Given the description of an element on the screen output the (x, y) to click on. 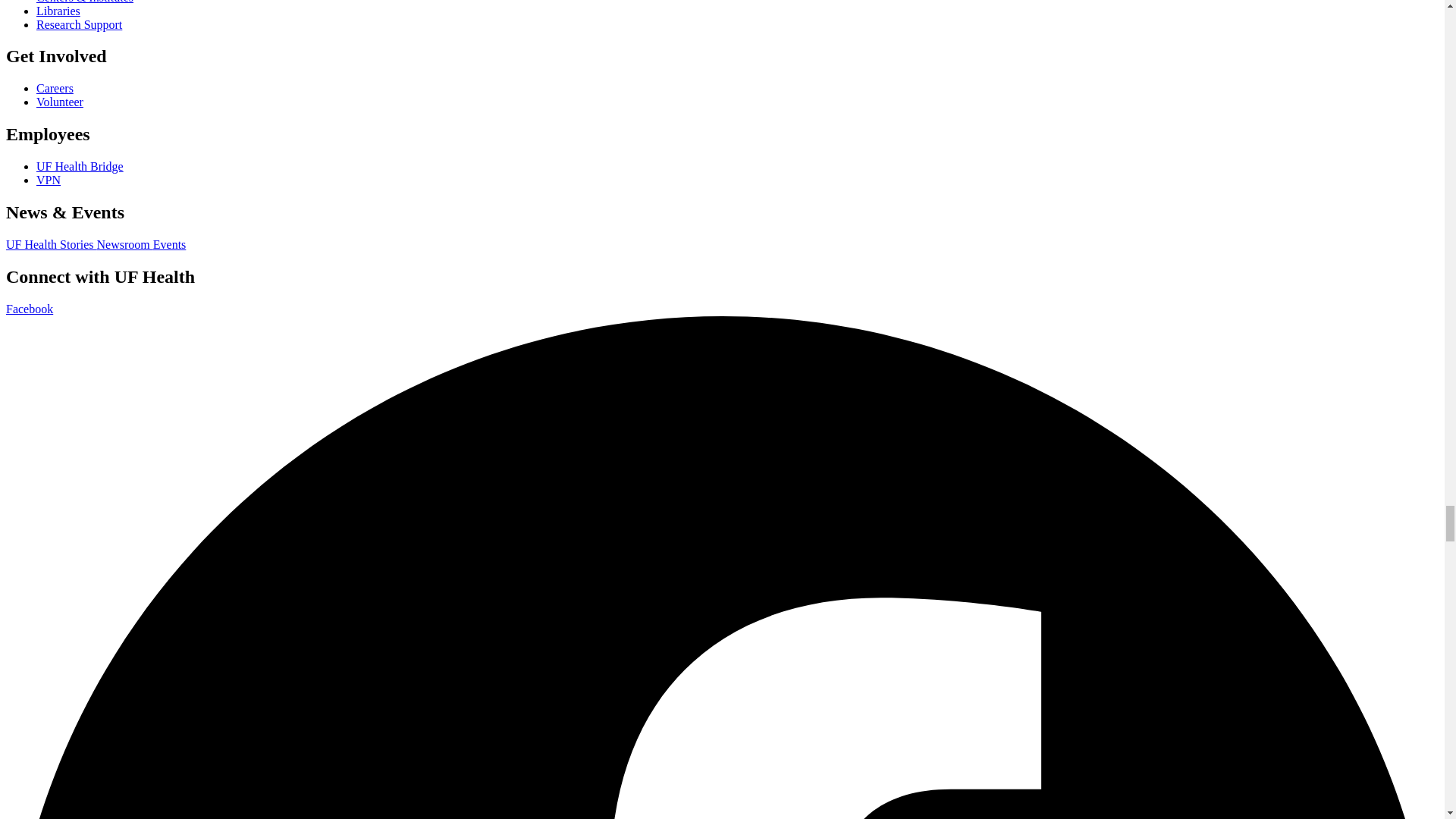
UF Health Bridge (79, 165)
Libraries (58, 10)
Volunteer (59, 101)
Careers (55, 88)
Research Support (79, 24)
